Given the description of an element on the screen output the (x, y) to click on. 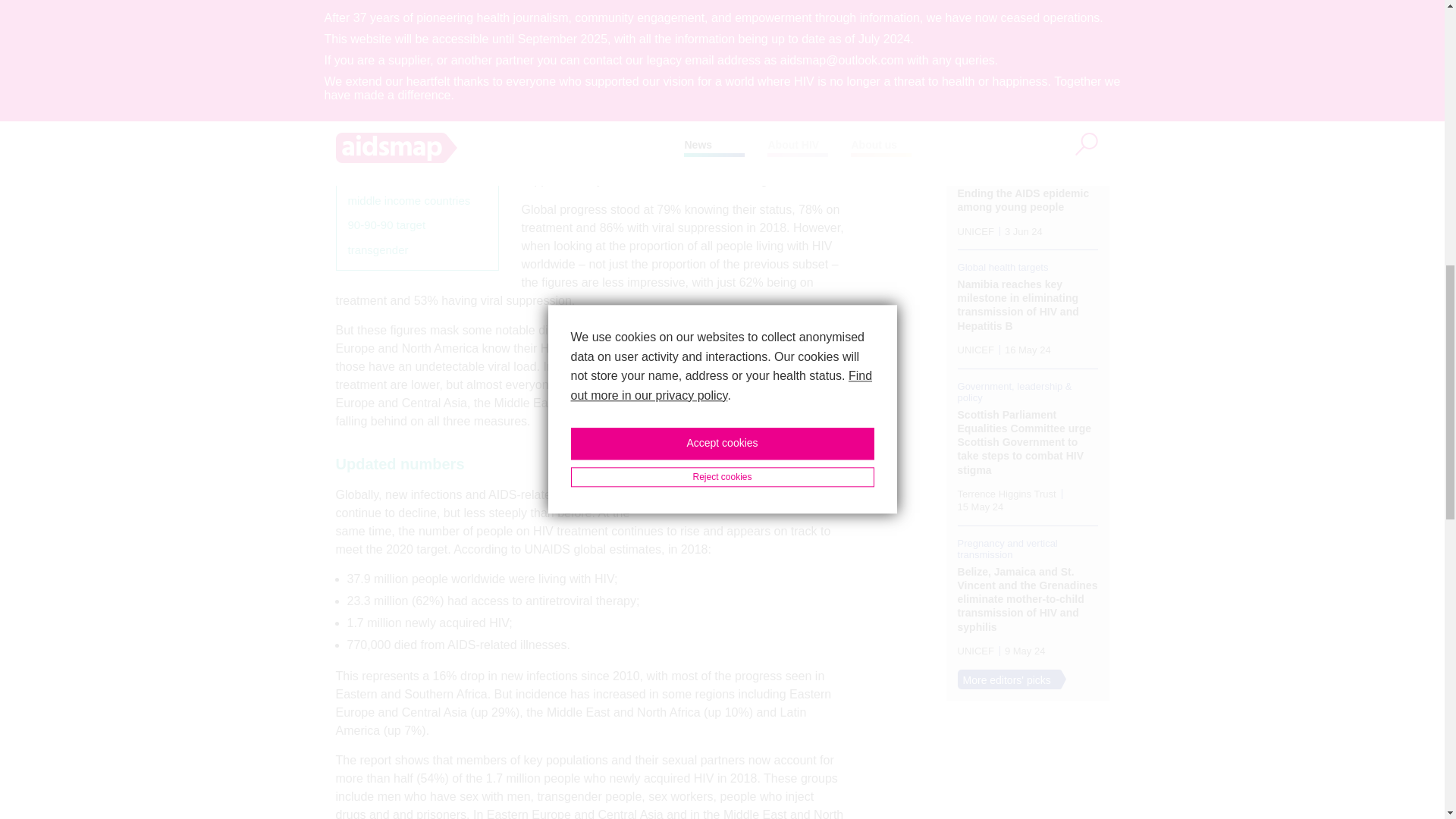
Find out more in our About HIV pages (743, 496)
90-90-90 target (386, 225)
middle income countries (408, 200)
Glossary (379, 121)
UNAIDS (368, 151)
virological suppression (405, 176)
transgender (377, 250)
